Given the description of an element on the screen output the (x, y) to click on. 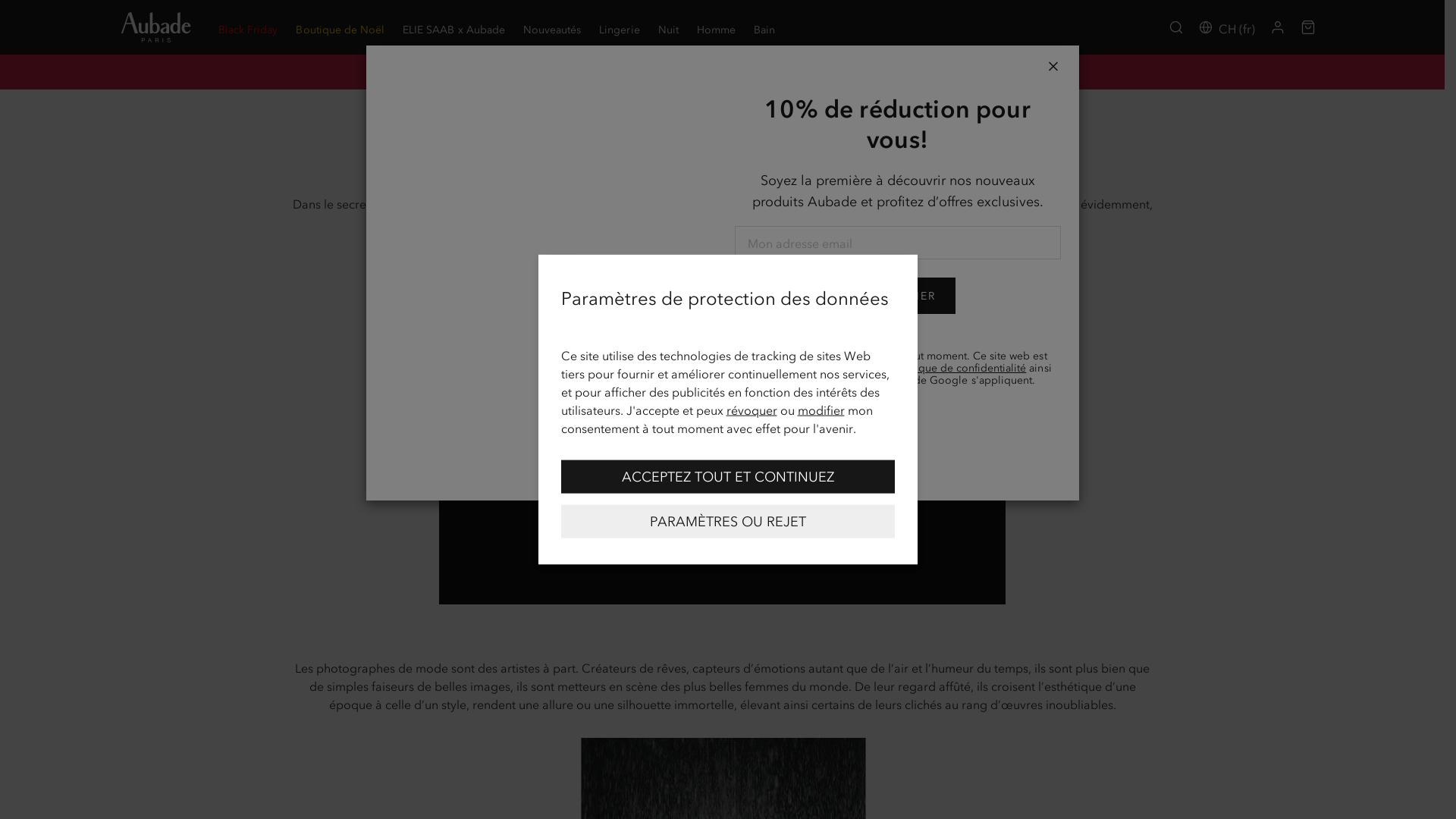
S'ABONNER Element type: text (897, 295)
Black Friday Element type: text (247, 27)
En profiter Element type: text (975, 71)
Homme Element type: text (715, 27)
ELIE SAAB x Aubade Element type: text (453, 27)
conditions d'utilisation Element type: text (854, 379)
Mon compte Element type: hover (1277, 27)
Nuit Element type: text (668, 27)
Lingerie Element type: text (619, 27)
modifier Element type: text (820, 409)
Play Video Element type: text (721, 437)
Bain Element type: text (764, 27)
CH (fr) Element type: text (1226, 27)
ACCEPTEZ TOUT ET CONTINUEZ Element type: text (727, 475)
